Given the description of an element on the screen output the (x, y) to click on. 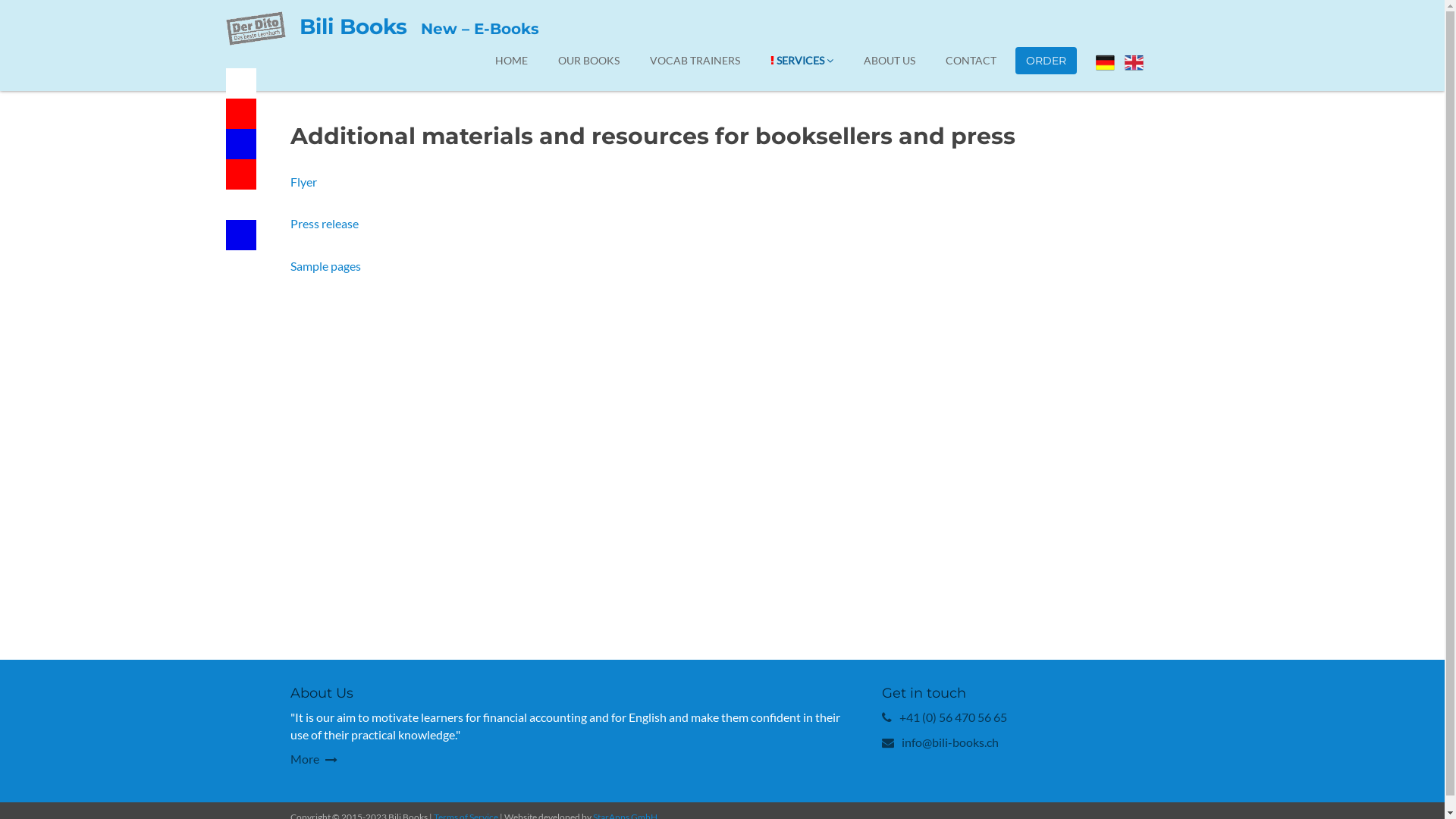
ABOUT US Element type: text (889, 60)
Flyer Element type: text (302, 181)
Bili Books Element type: text (351, 26)
HOME Element type: text (511, 60)
More Element type: text (312, 758)
VOCAB TRAINERS Element type: text (694, 60)
info@bili-books.ch Element type: text (948, 741)
Press release Element type: text (323, 223)
ORDER Element type: text (1045, 60)
Sample pages Element type: text (324, 265)
CONTACT Element type: text (970, 60)
SERVICES Element type: text (801, 60)
OUR BOOKS Element type: text (588, 60)
